Given the description of an element on the screen output the (x, y) to click on. 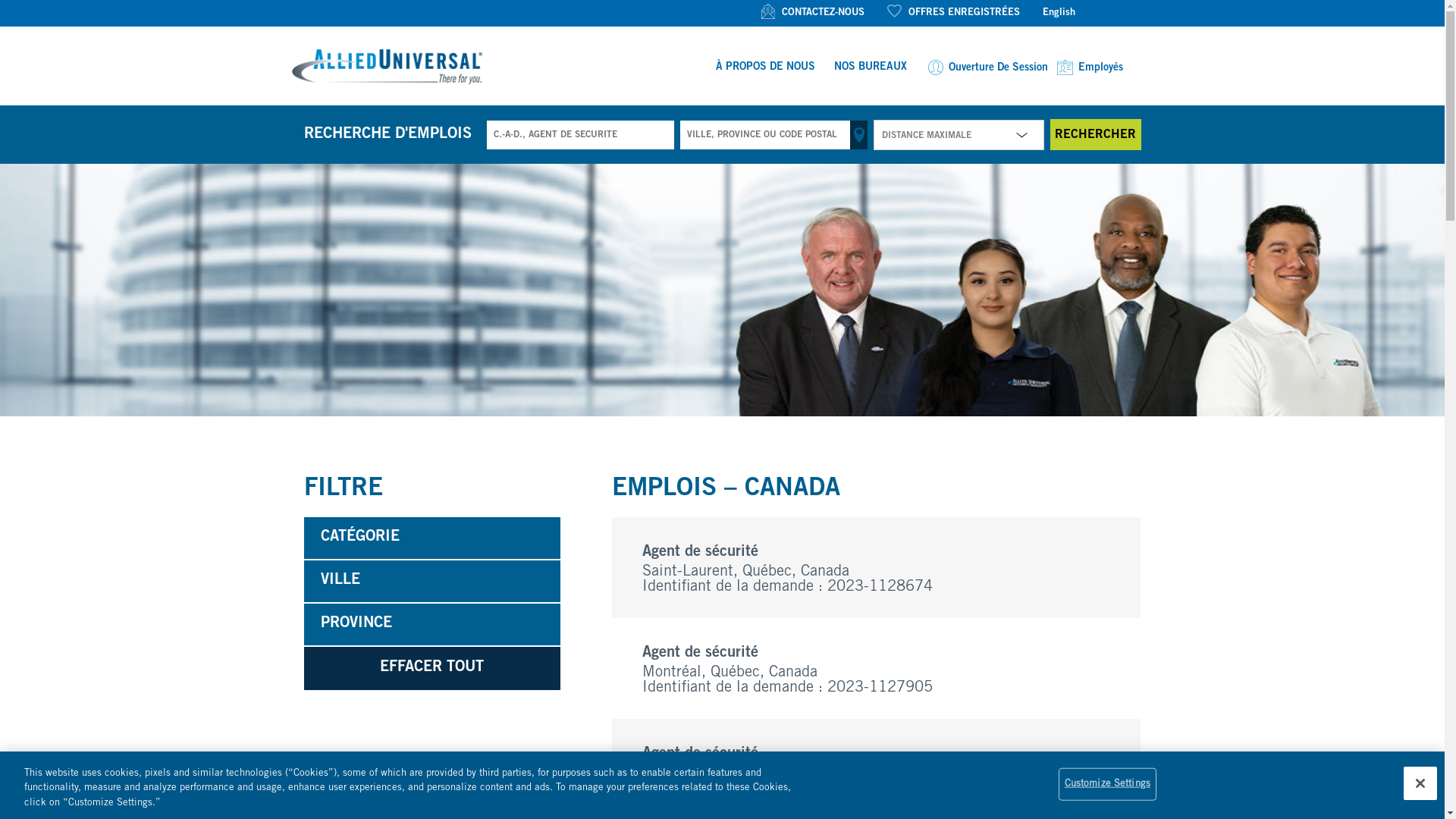
PROVINCE Element type: text (432, 624)
Customize Settings Element type: text (1107, 783)
CONTACTEZ-NOUS Element type: text (812, 13)
NOS BUREAUX Element type: text (870, 67)
VILLE Element type: text (432, 581)
English Element type: text (1057, 13)
RECHERCHER Element type: text (1094, 134)
Ouverture De Session Element type: text (986, 68)
